Given the description of an element on the screen output the (x, y) to click on. 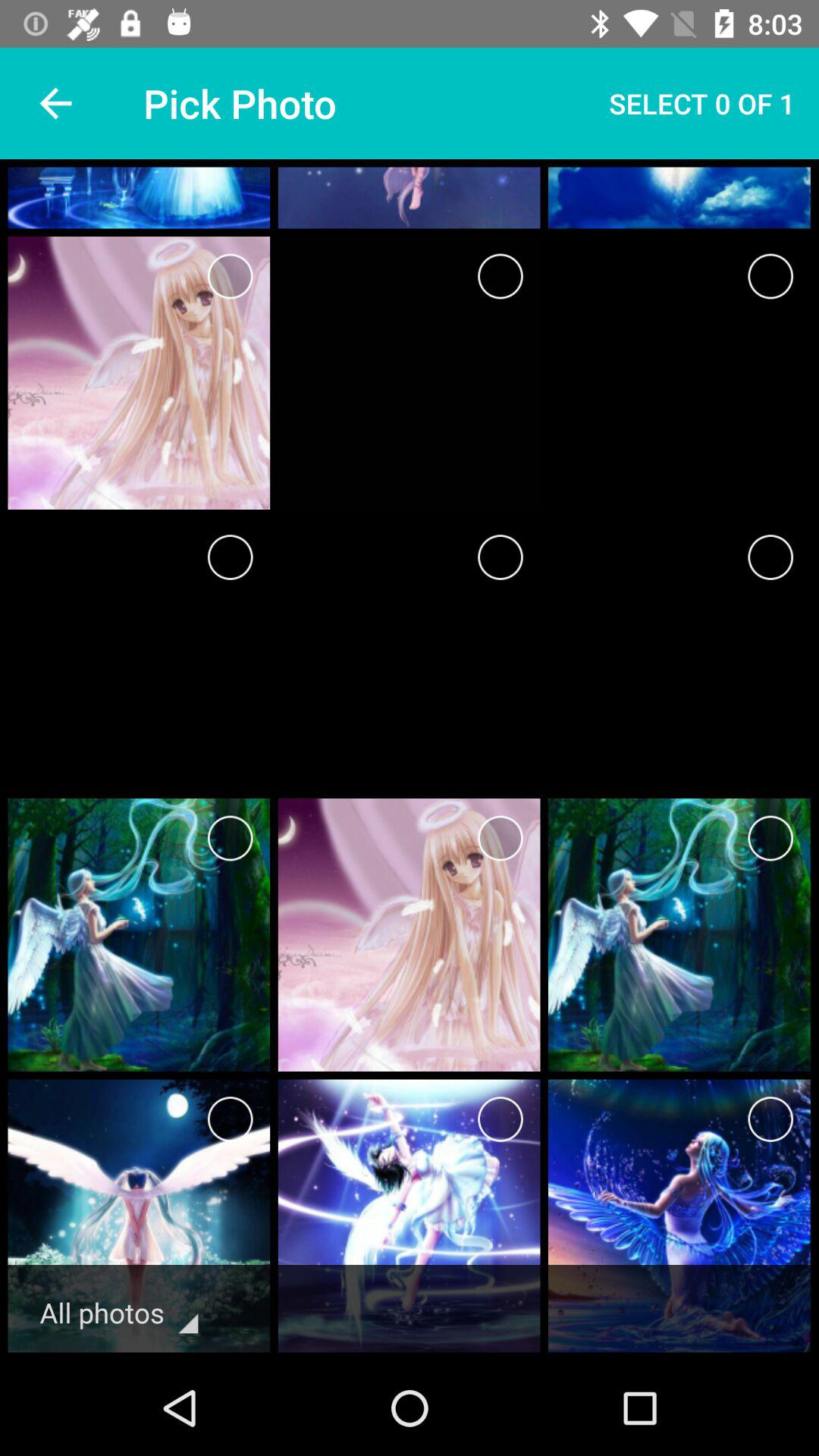
select photo (500, 838)
